Given the description of an element on the screen output the (x, y) to click on. 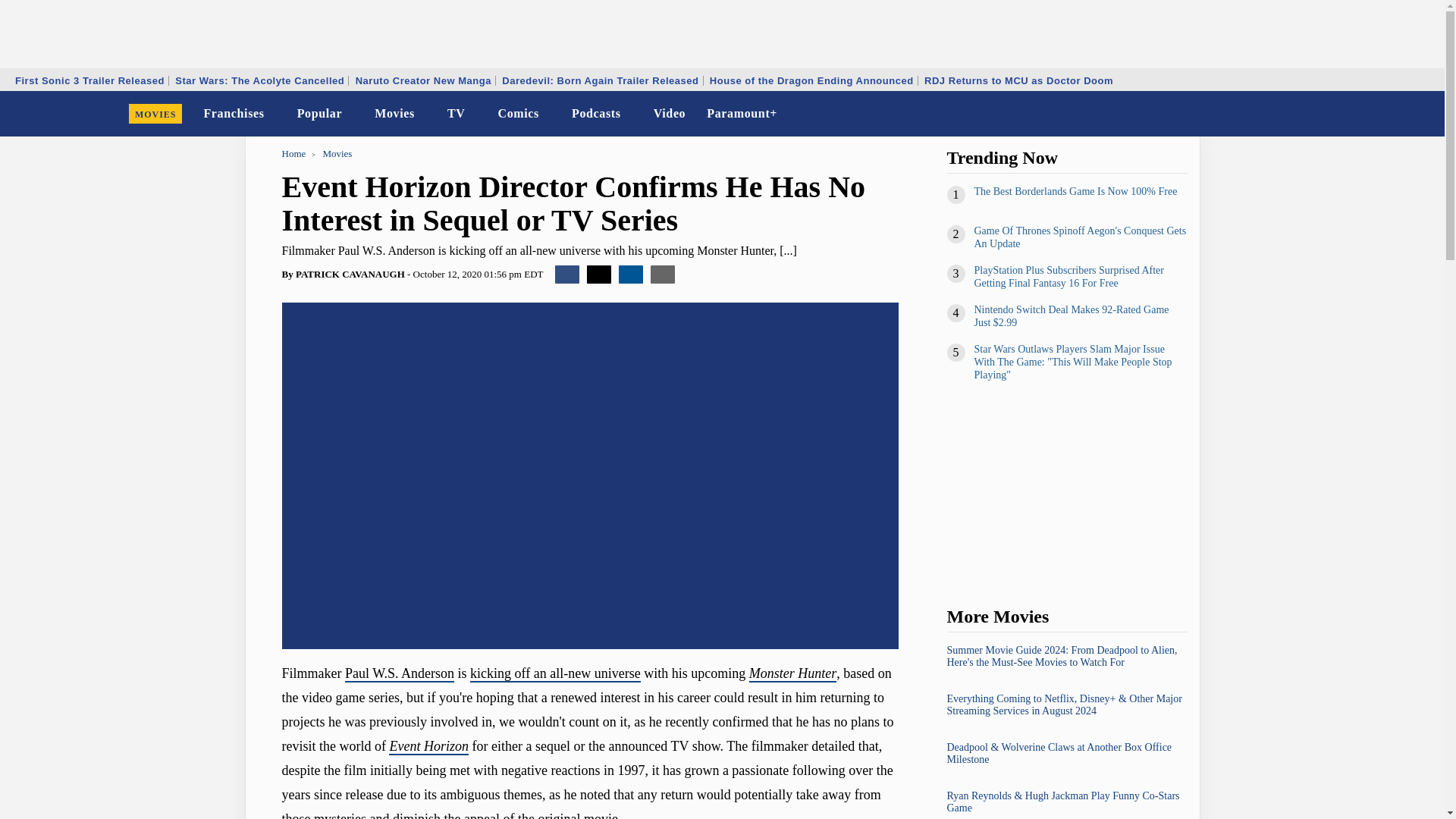
House of the Dragon Ending Announced (811, 80)
First Sonic 3 Trailer Released (89, 80)
Popular (320, 113)
Daredevil: Born Again Trailer Released (599, 80)
Dark Mode (1394, 113)
Movies (394, 113)
Naruto Creator New Manga (423, 80)
Search (1422, 114)
Star Wars: The Acolyte Cancelled (259, 80)
MOVIES (155, 113)
